Given the description of an element on the screen output the (x, y) to click on. 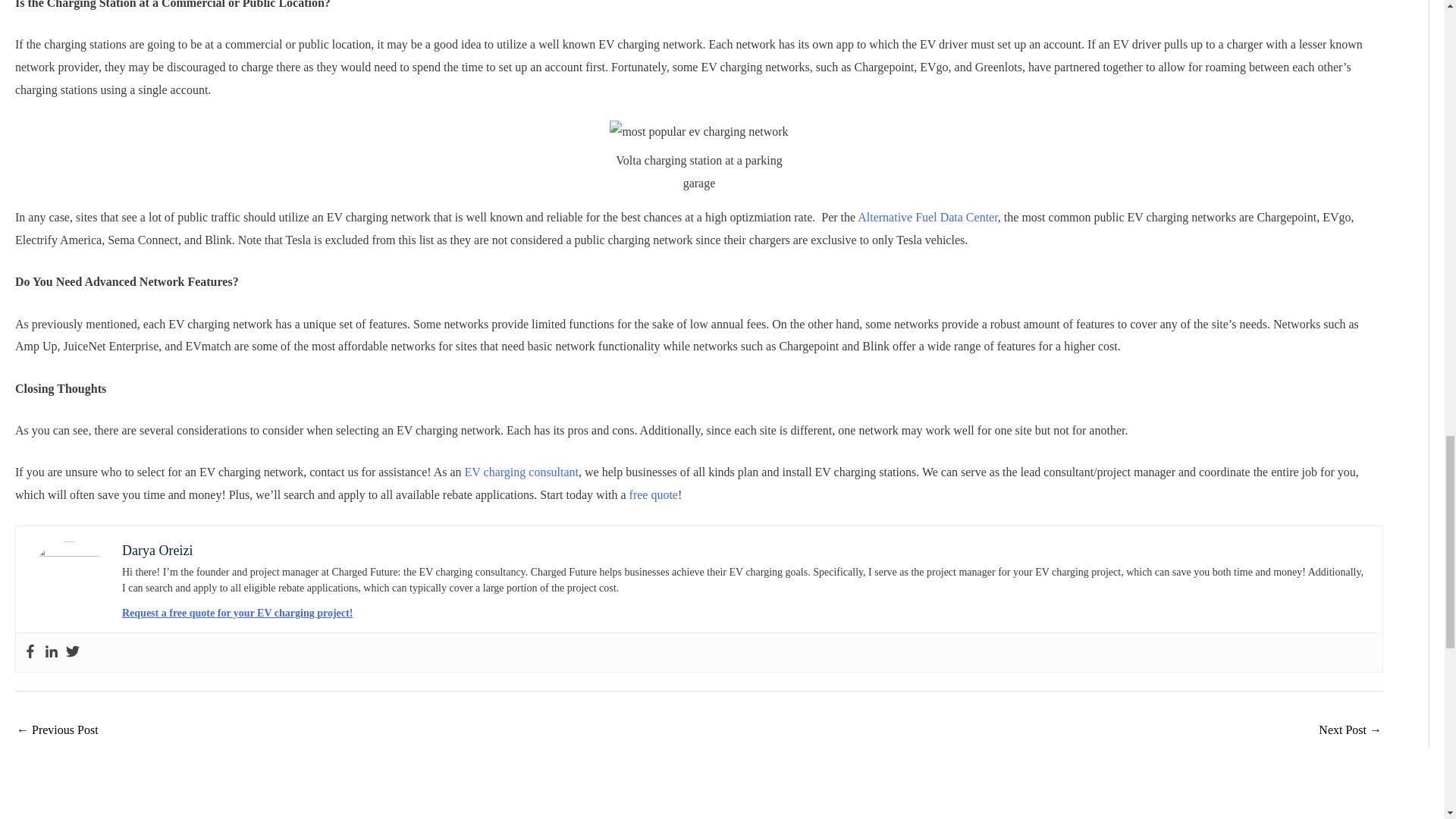
Most Popular Public Level 2 EV Charging Networks in 2021 (57, 731)
Darya Oreizi (157, 549)
Request a free quote for your EV charging project! (237, 613)
EV charging consultant (521, 472)
Alternative Fuel Data Center (927, 216)
free quote (653, 494)
EV Charging Station Regulations in California (1350, 731)
